Given the description of an element on the screen output the (x, y) to click on. 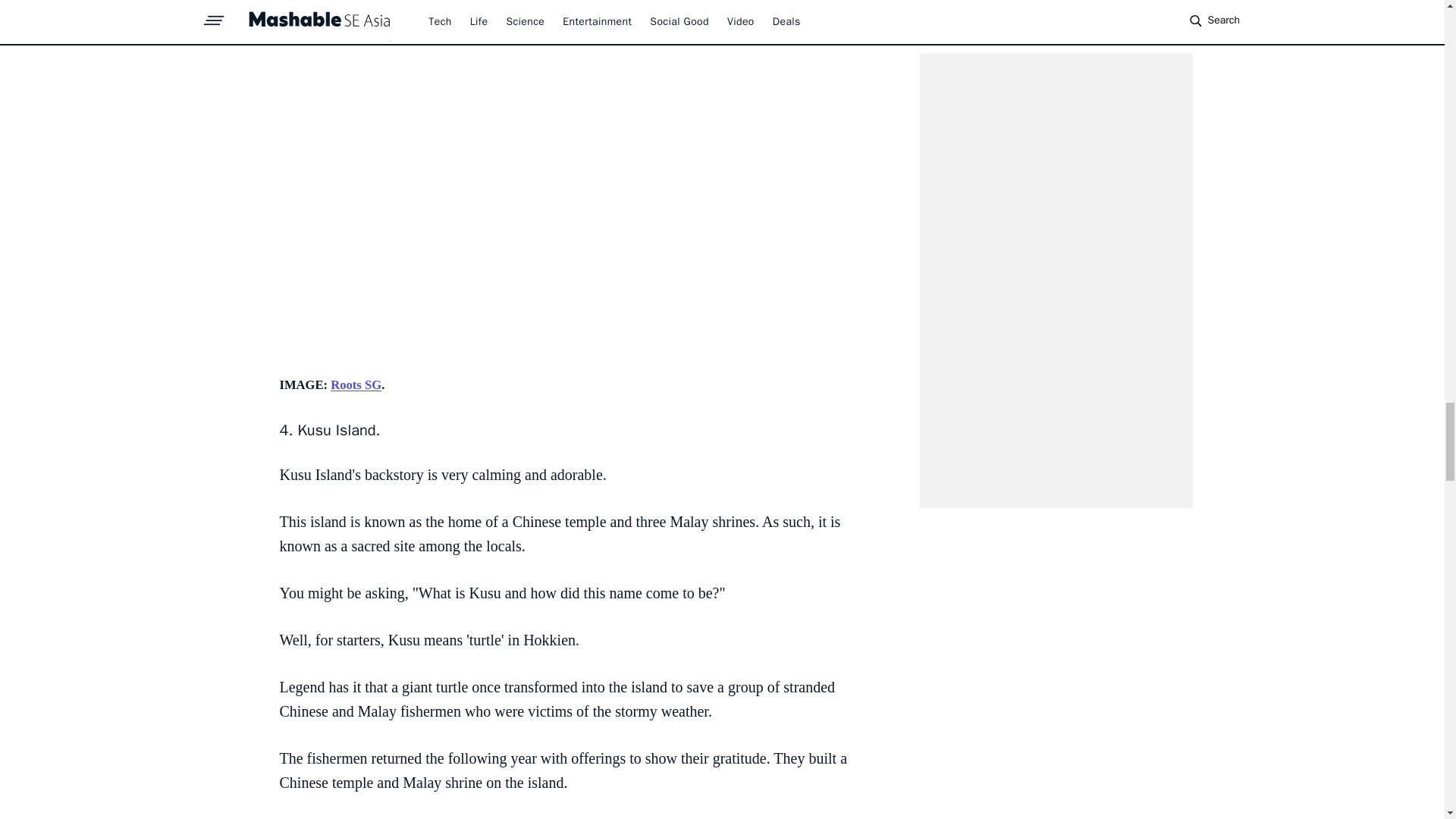
Roots SG (355, 384)
